Given the description of an element on the screen output the (x, y) to click on. 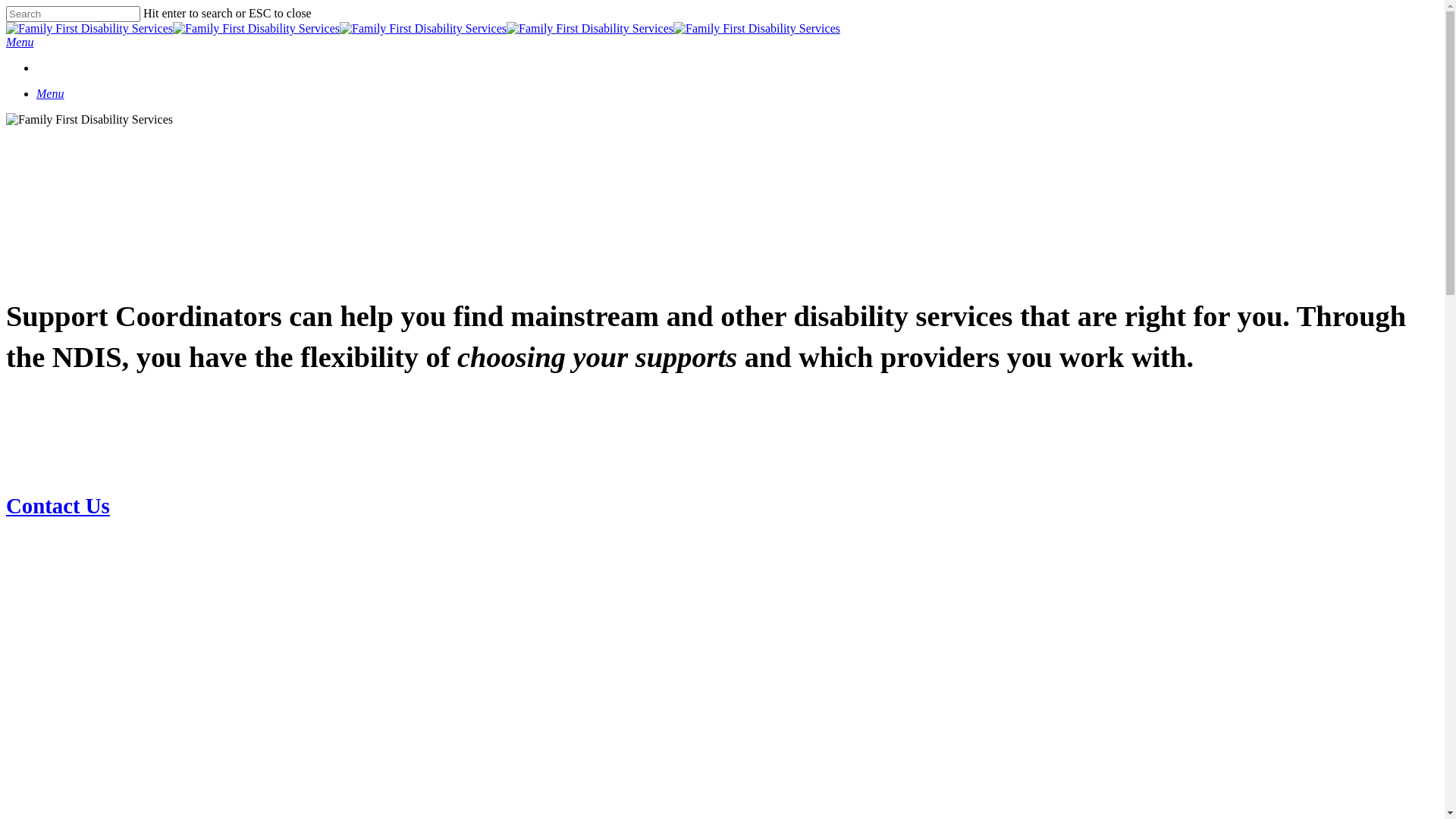
Skip to main content Element type: text (5, 5)
Menu Element type: text (49, 93)
Contact Us Element type: text (57, 505)
Menu Element type: text (19, 41)
